Given the description of an element on the screen output the (x, y) to click on. 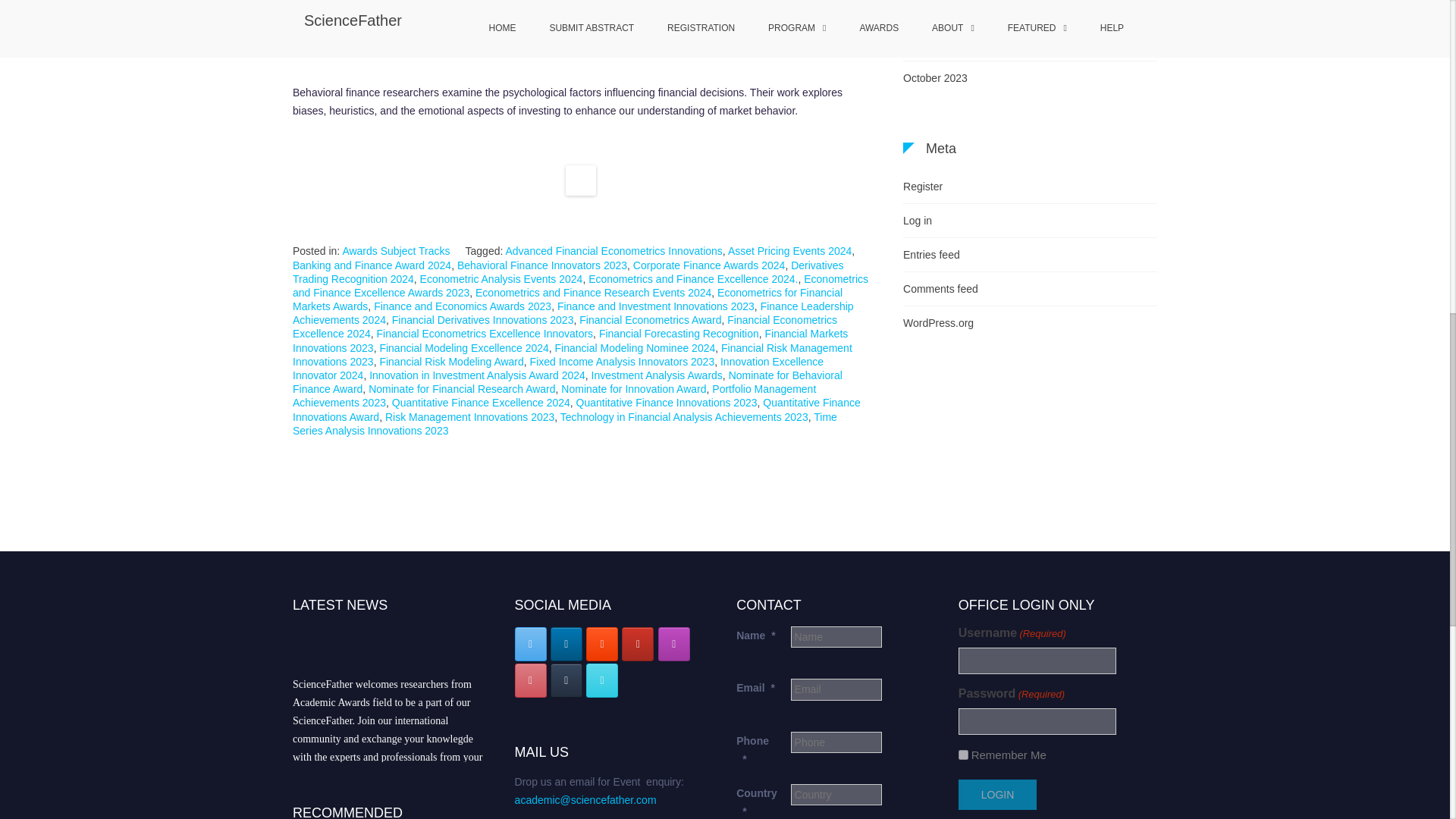
1 (963, 755)
Login (997, 794)
ScienceFather on Pinterest (531, 680)
ScienceFather on Tumblr (566, 680)
ScienceFather on Linkedin (566, 643)
ScienceFather on Instagram (674, 643)
ScienceFather on Facebook (601, 680)
ScienceFather on Youtube (637, 643)
ScienceFather on X Twitter (531, 643)
ScienceFather on Blogger B (601, 643)
